Given the description of an element on the screen output the (x, y) to click on. 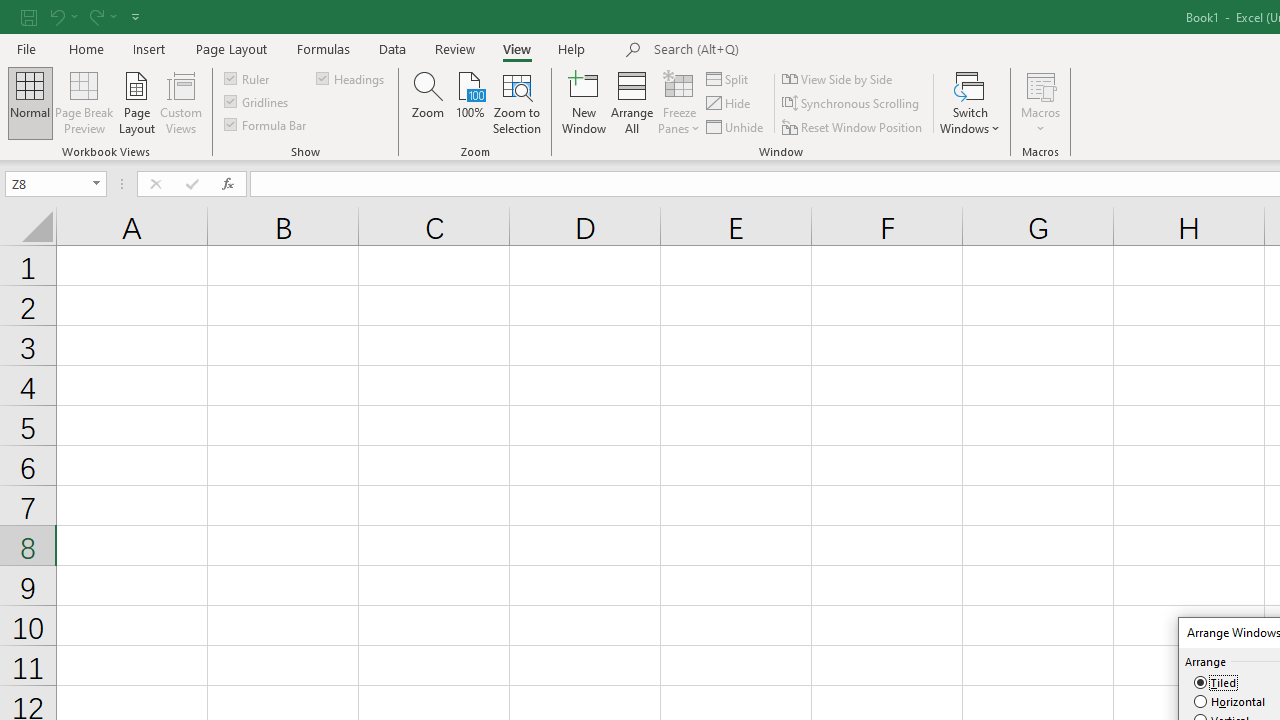
Gridlines (257, 101)
Hide (729, 103)
100% (470, 102)
Arrange All (632, 102)
Macros (1040, 102)
Switch Windows (970, 102)
Tiled (1216, 683)
